Given the description of an element on the screen output the (x, y) to click on. 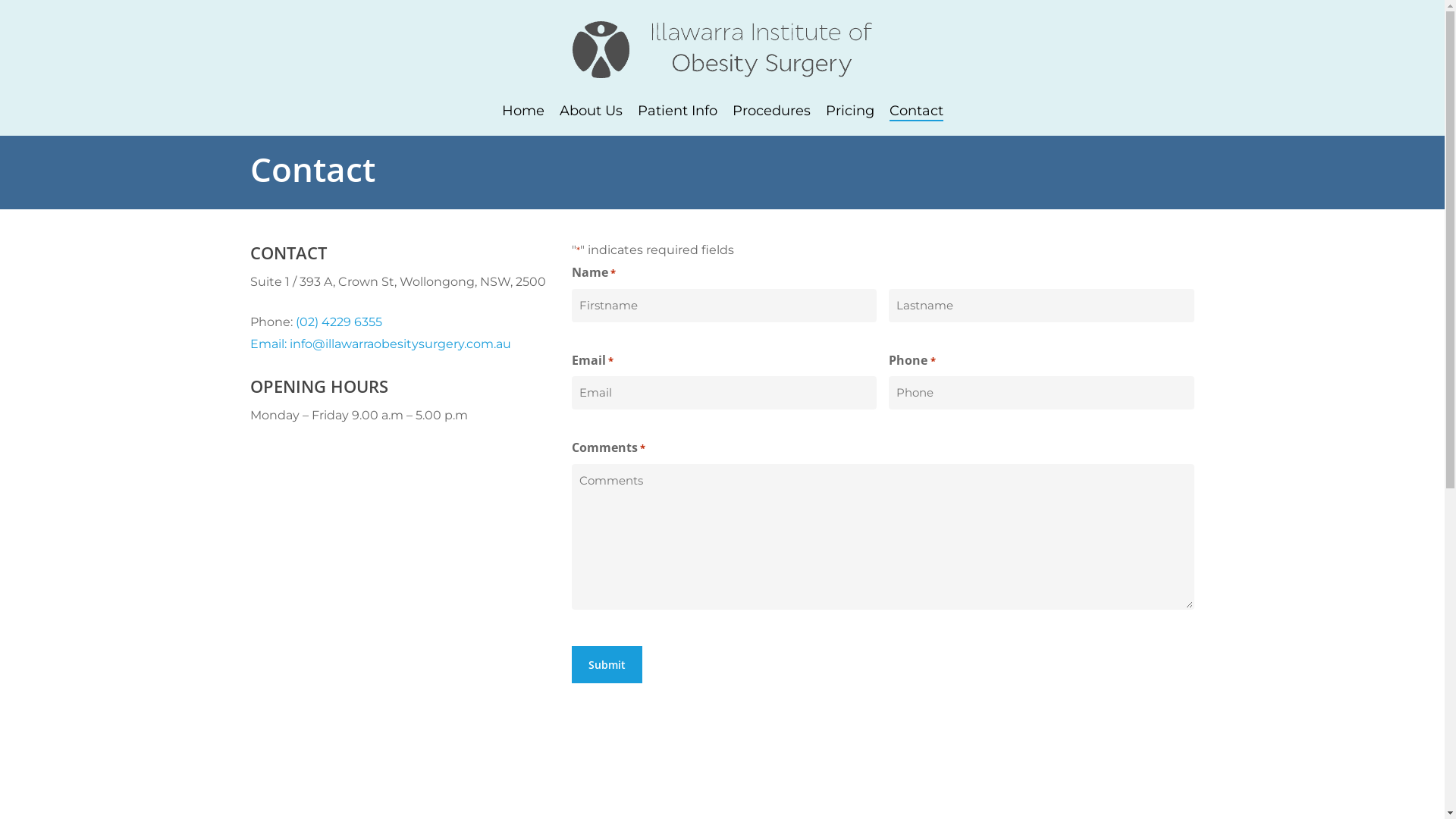
Home Element type: text (523, 110)
Pricing Element type: text (849, 110)
Procedures Element type: text (771, 110)
Patient Info Element type: text (676, 110)
Contact Element type: text (915, 110)
Email: info@illawarraobesitysurgery.com.au Element type: text (380, 343)
Submit Element type: text (606, 664)
(02) 4229 6355 Element type: text (338, 321)
About Us Element type: text (590, 110)
